Given the description of an element on the screen output the (x, y) to click on. 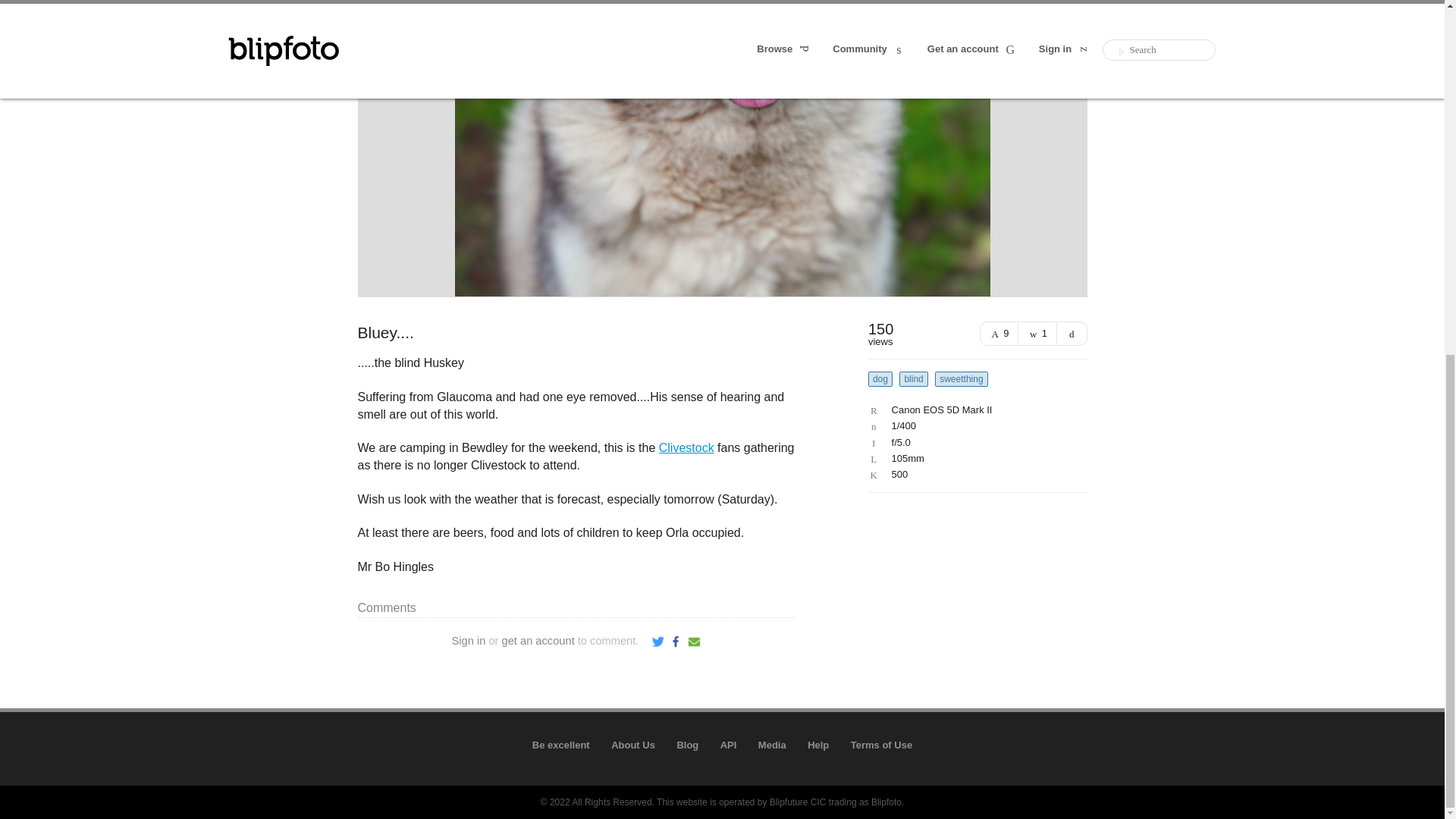
Focal length (973, 458)
Media (772, 745)
Help (818, 745)
get an account (538, 640)
blind (913, 378)
ISO (973, 474)
Show large (1072, 333)
Sign in (468, 640)
Blog (687, 745)
dog (879, 378)
sweetthing (960, 378)
About Us (633, 745)
Camera (973, 409)
Clivestock (686, 447)
Terms of Use (881, 745)
